Given the description of an element on the screen output the (x, y) to click on. 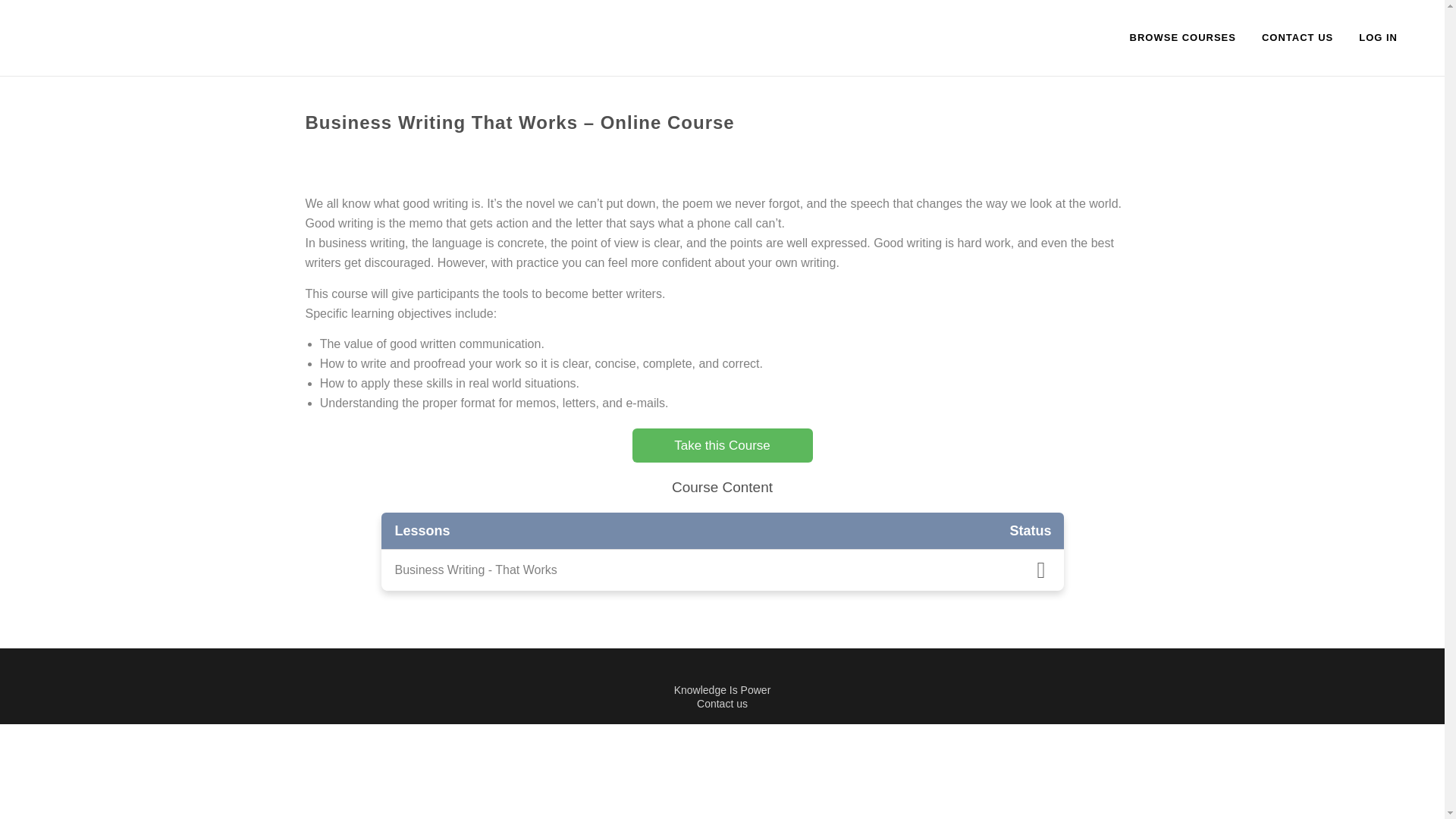
CONTACT US (1297, 38)
courses-top-menu (1182, 38)
BROWSE COURSES (1182, 38)
